Given the description of an element on the screen output the (x, y) to click on. 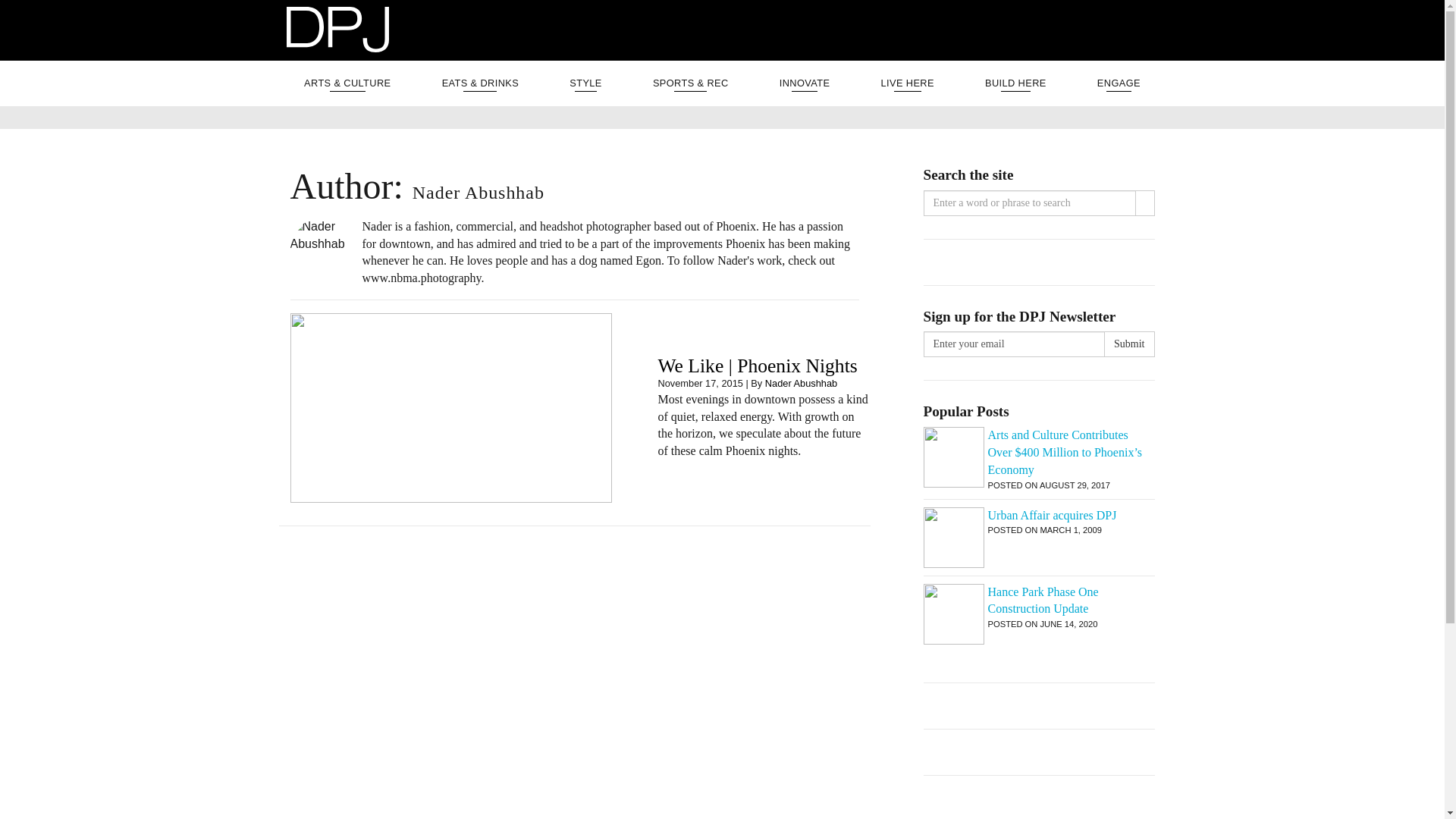
INNOVATE (805, 83)
Nader Abushhab (801, 383)
Urban Affair acquires DPJ (1038, 515)
Submit (1128, 344)
LIVE HERE (907, 83)
Posts by Nader Abushhab (801, 383)
BUILD HERE (1015, 83)
Enter your email (1014, 344)
ENGAGE (1118, 83)
Submit (1128, 344)
STYLE (585, 83)
Hance Park Phase One Construction Update (1038, 601)
